Given the description of an element on the screen output the (x, y) to click on. 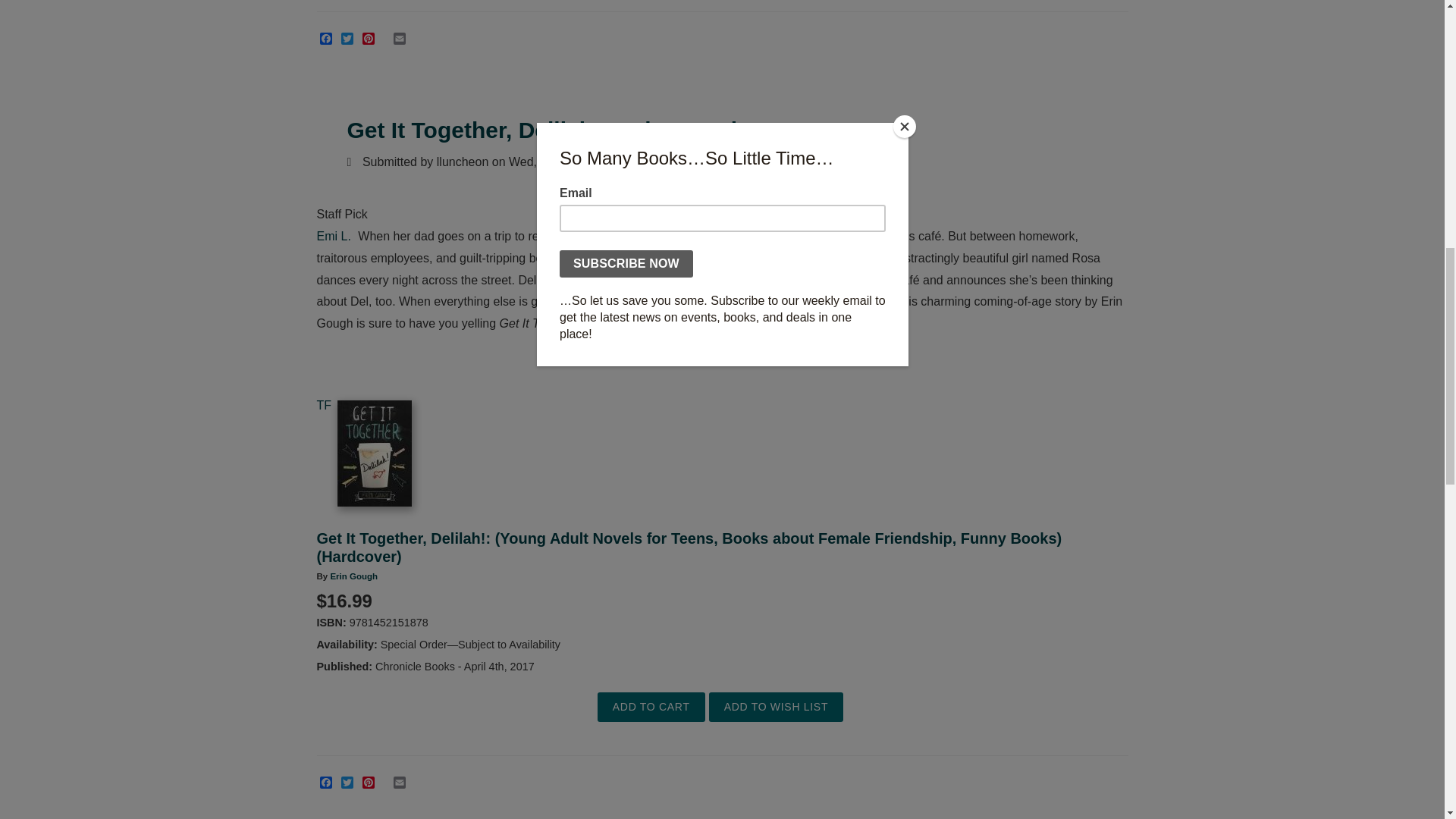
Add to Wish List (776, 706)
Add to Cart (650, 706)
